Given the description of an element on the screen output the (x, y) to click on. 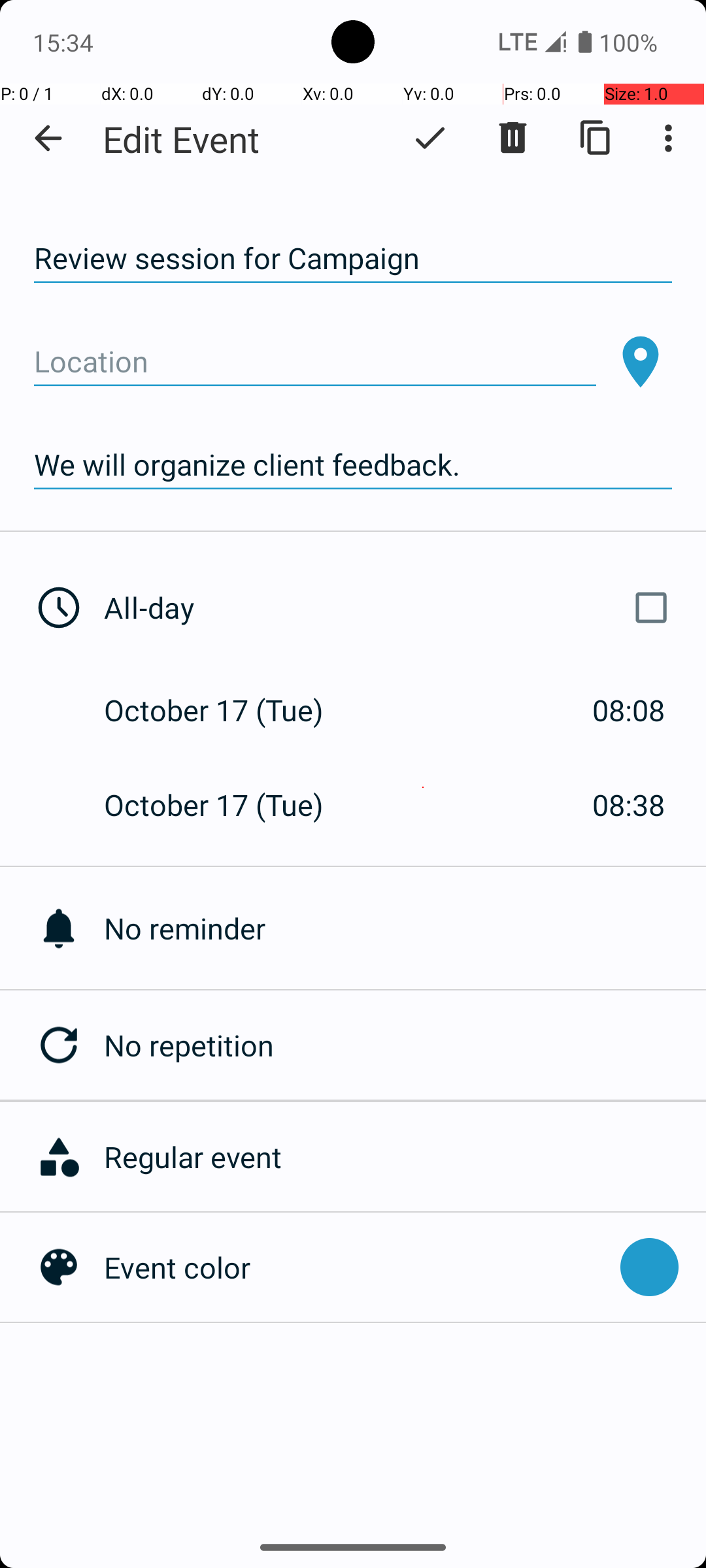
We will organize client feedback. Element type: android.widget.EditText (352, 465)
October 17 (Tue) Element type: android.widget.TextView (227, 709)
08:08 Element type: android.widget.TextView (628, 709)
08:38 Element type: android.widget.TextView (628, 804)
